Given the description of an element on the screen output the (x, y) to click on. 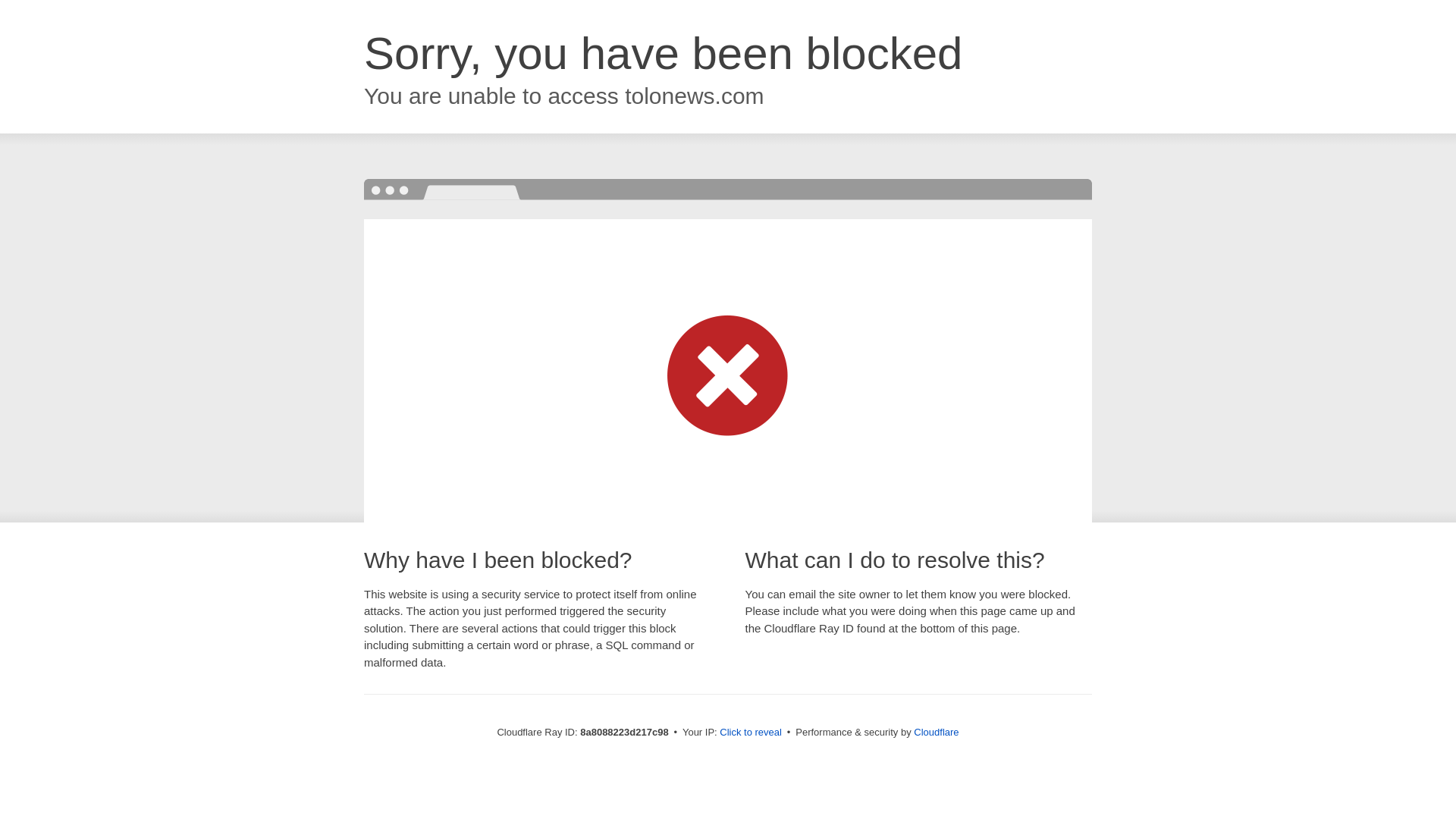
Cloudflare (936, 731)
Click to reveal (750, 732)
